Given the description of an element on the screen output the (x, y) to click on. 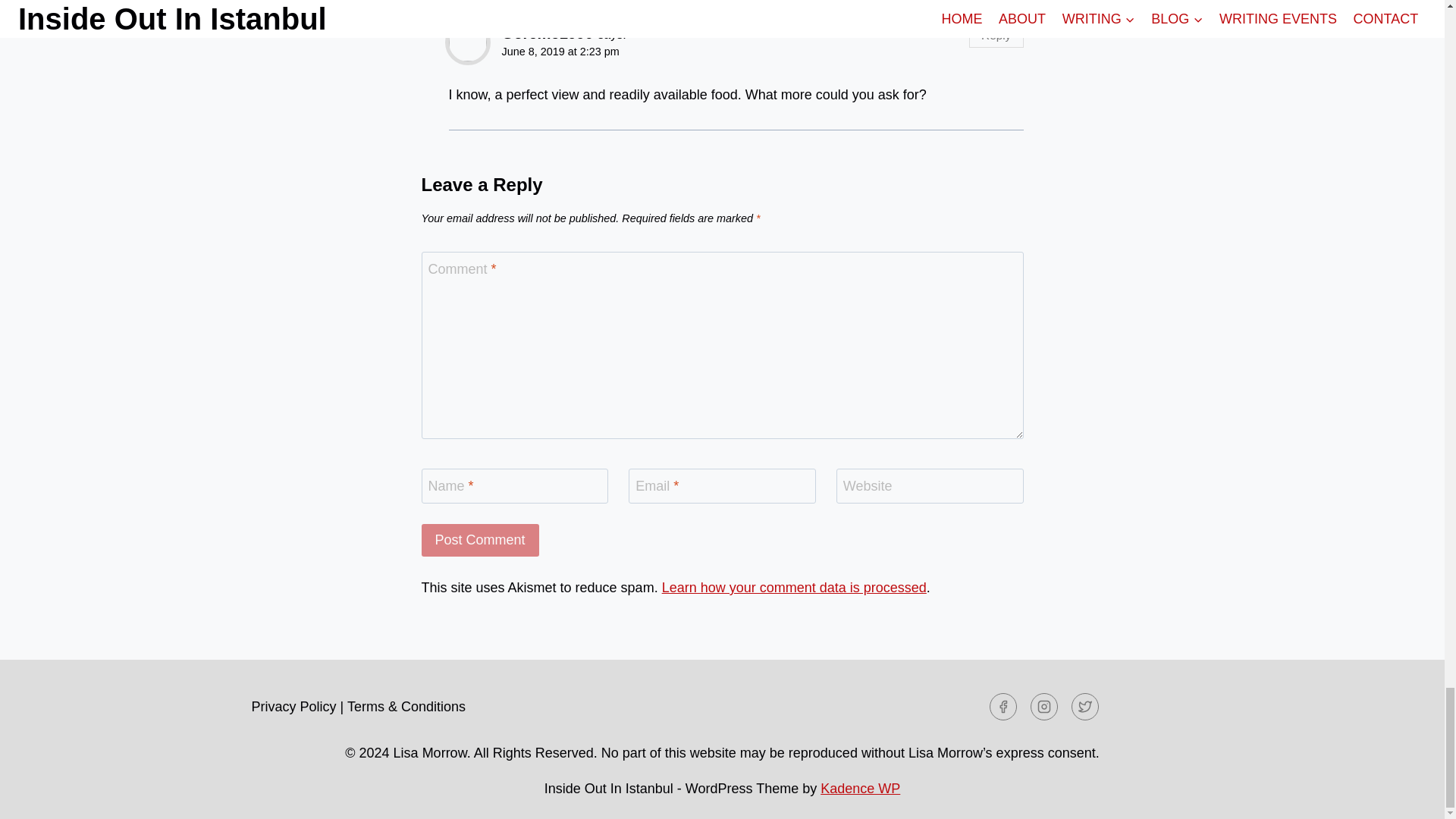
Post Comment (480, 540)
